Given the description of an element on the screen output the (x, y) to click on. 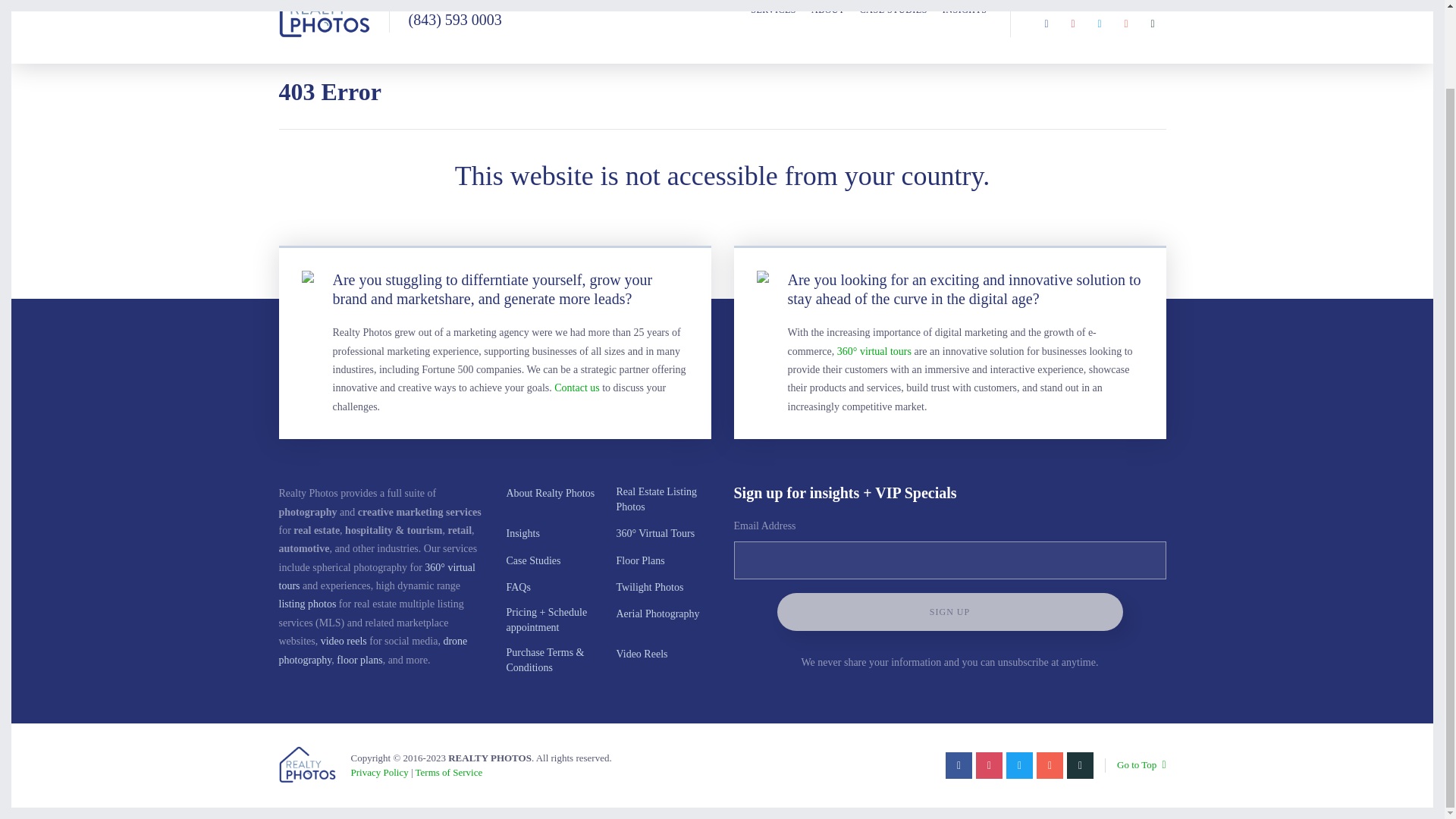
ABOUT (827, 18)
Search (1158, 2)
INSIGHTS (964, 18)
Search (1158, 2)
Sign Up (949, 611)
CASE STUDIES (893, 18)
SERVICES (773, 18)
Search (1158, 2)
